Given the description of an element on the screen output the (x, y) to click on. 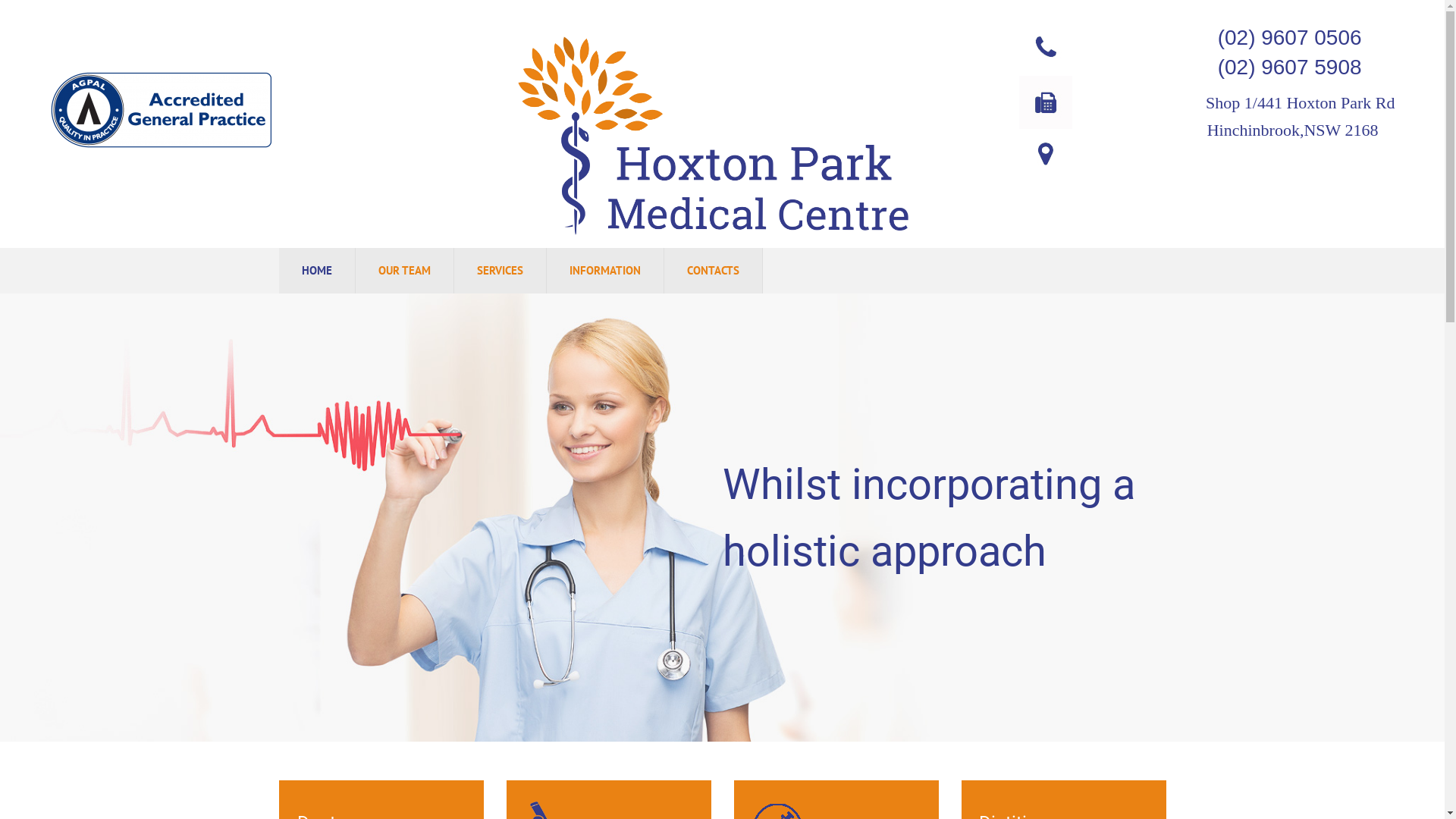
HOME Element type: text (316, 270)
SERVICES Element type: text (499, 270)
INFORMATION Element type: text (604, 270)
CONTACTS Element type: text (713, 270)
OUR TEAM Element type: text (403, 270)
